Given the description of an element on the screen output the (x, y) to click on. 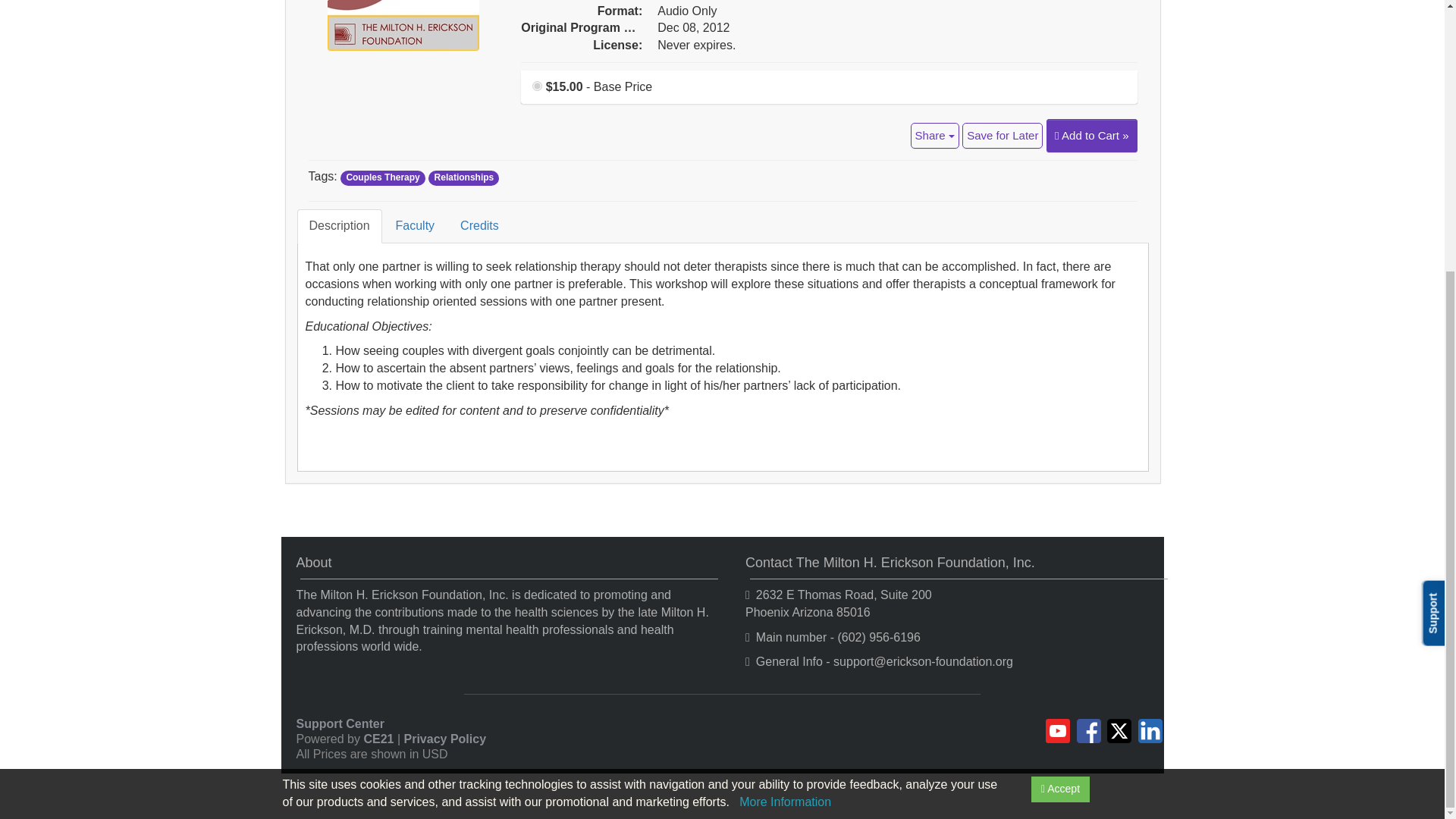
0,15.00 (536, 85)
